Given the description of an element on the screen output the (x, y) to click on. 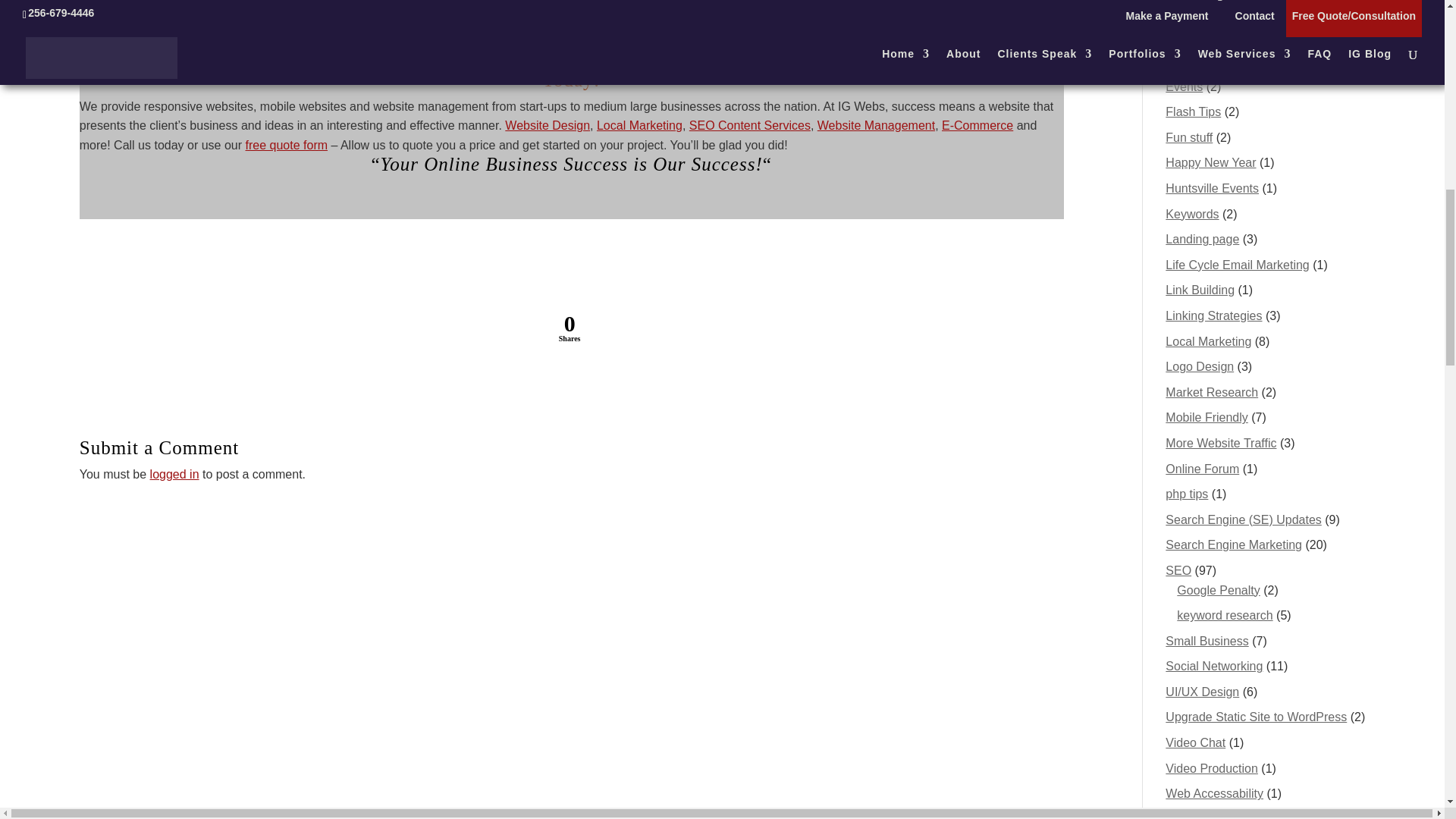
SEO Content Services (749, 124)
Local Marketing (639, 124)
Website Design (547, 124)
Drop us a line (753, 9)
